Given the description of an element on the screen output the (x, y) to click on. 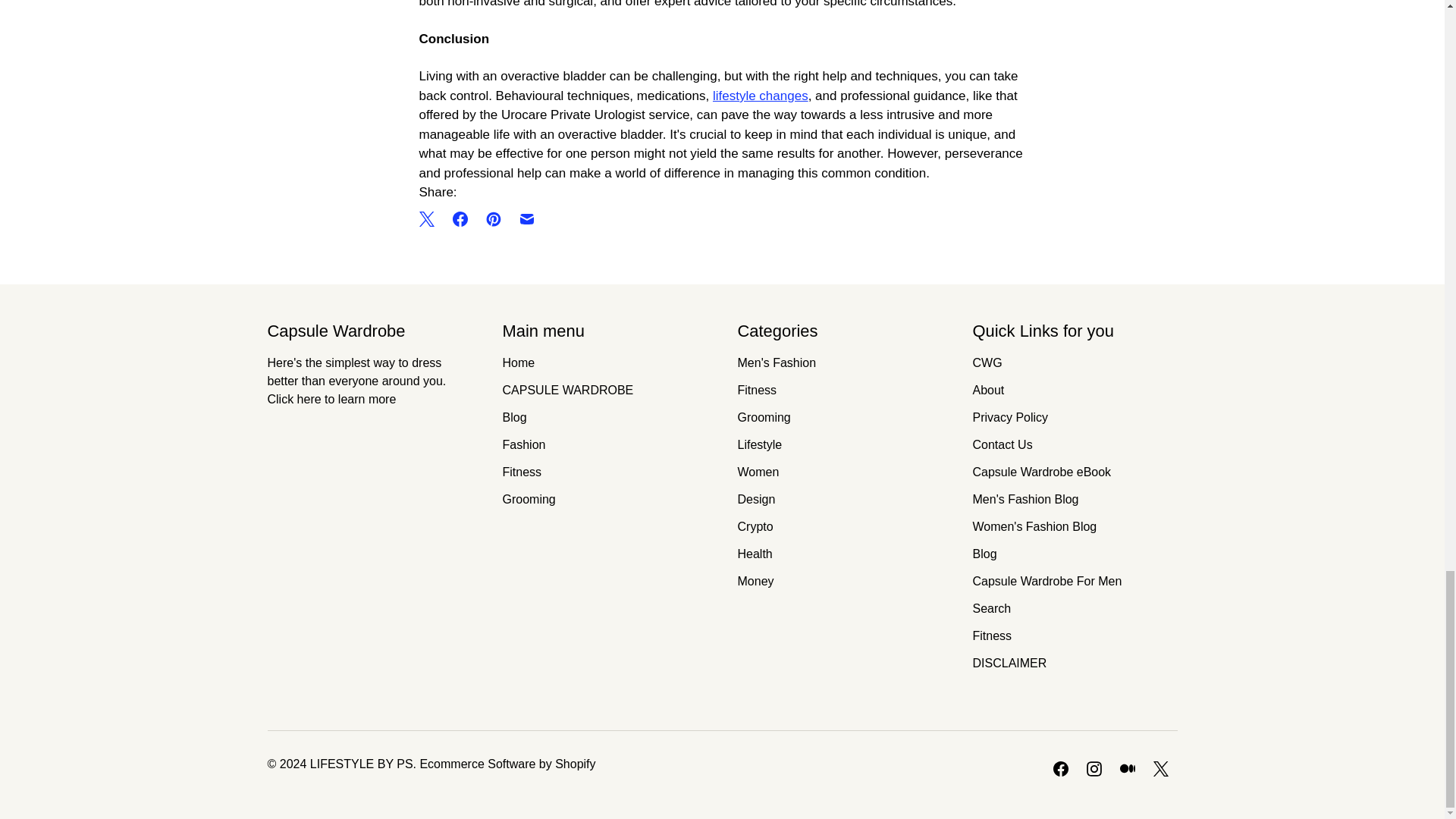
lifestyle changes (760, 95)
Blog (513, 417)
Fitness (521, 472)
Share this on Facebook (459, 218)
Grooming (528, 499)
Share this on Pinterest (492, 218)
Fashion (523, 444)
Home (518, 362)
Click here to learn more (331, 399)
Email this to a friend (526, 218)
CAPSULE WARDROBE (567, 390)
